Given the description of an element on the screen output the (x, y) to click on. 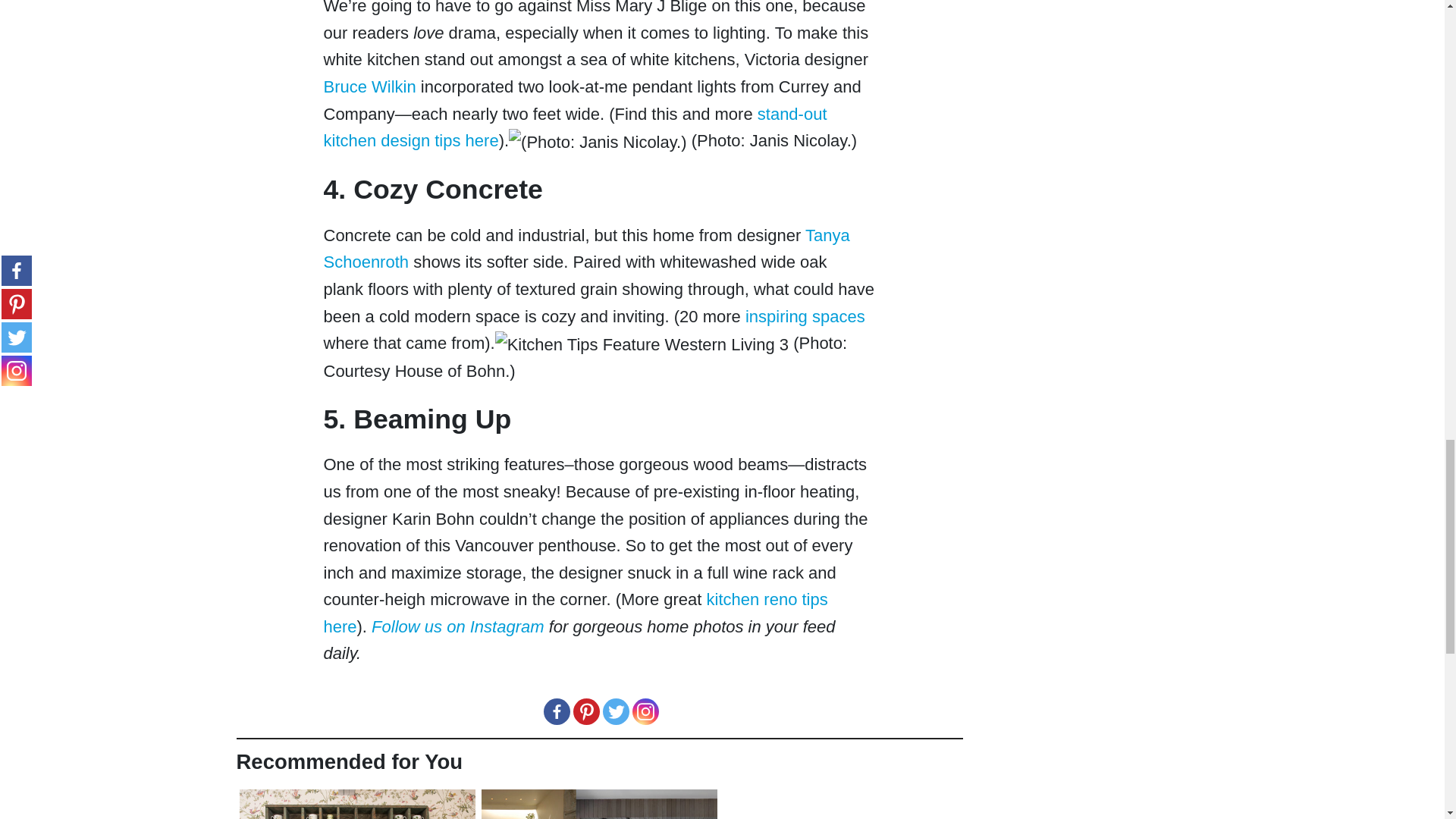
Twitter (615, 711)
Facebook (556, 711)
Instagram (645, 711)
Pinterest (586, 711)
